Given the description of an element on the screen output the (x, y) to click on. 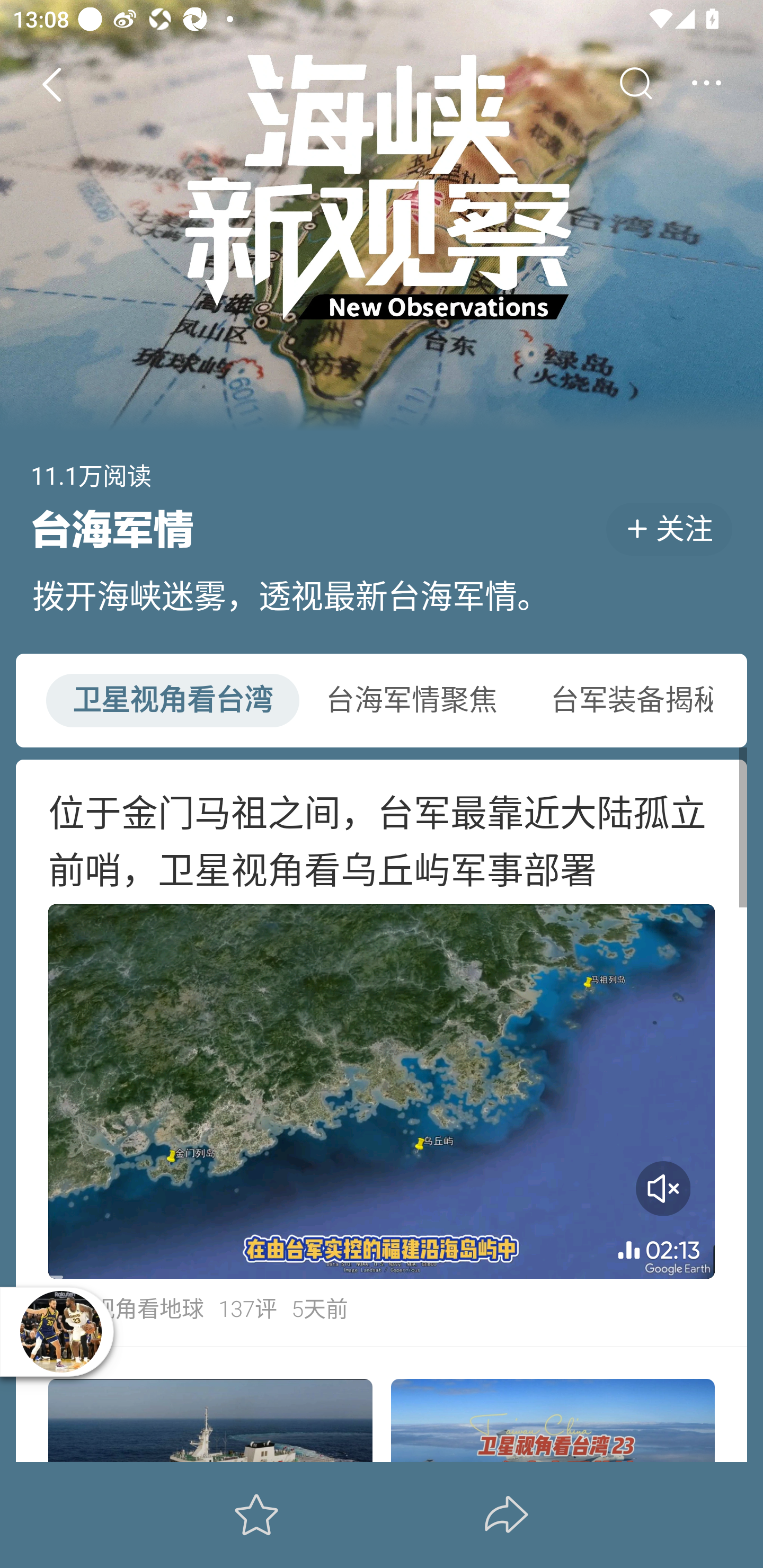
11.1万阅读 台海军情  关注 拨开海峡迷雾，透视最新台海军情。 (381, 325)
 (50, 83)
 (634, 83)
 (705, 83)
 关注 (668, 529)
卫星视角看台湾 (172, 700)
台海军情聚焦 (411, 700)
台军装备揭秘 (620, 700)
音量开关 (662, 1188)
播放器 (60, 1331)
收藏  (255, 1514)
分享  (506, 1514)
